Given the description of an element on the screen output the (x, y) to click on. 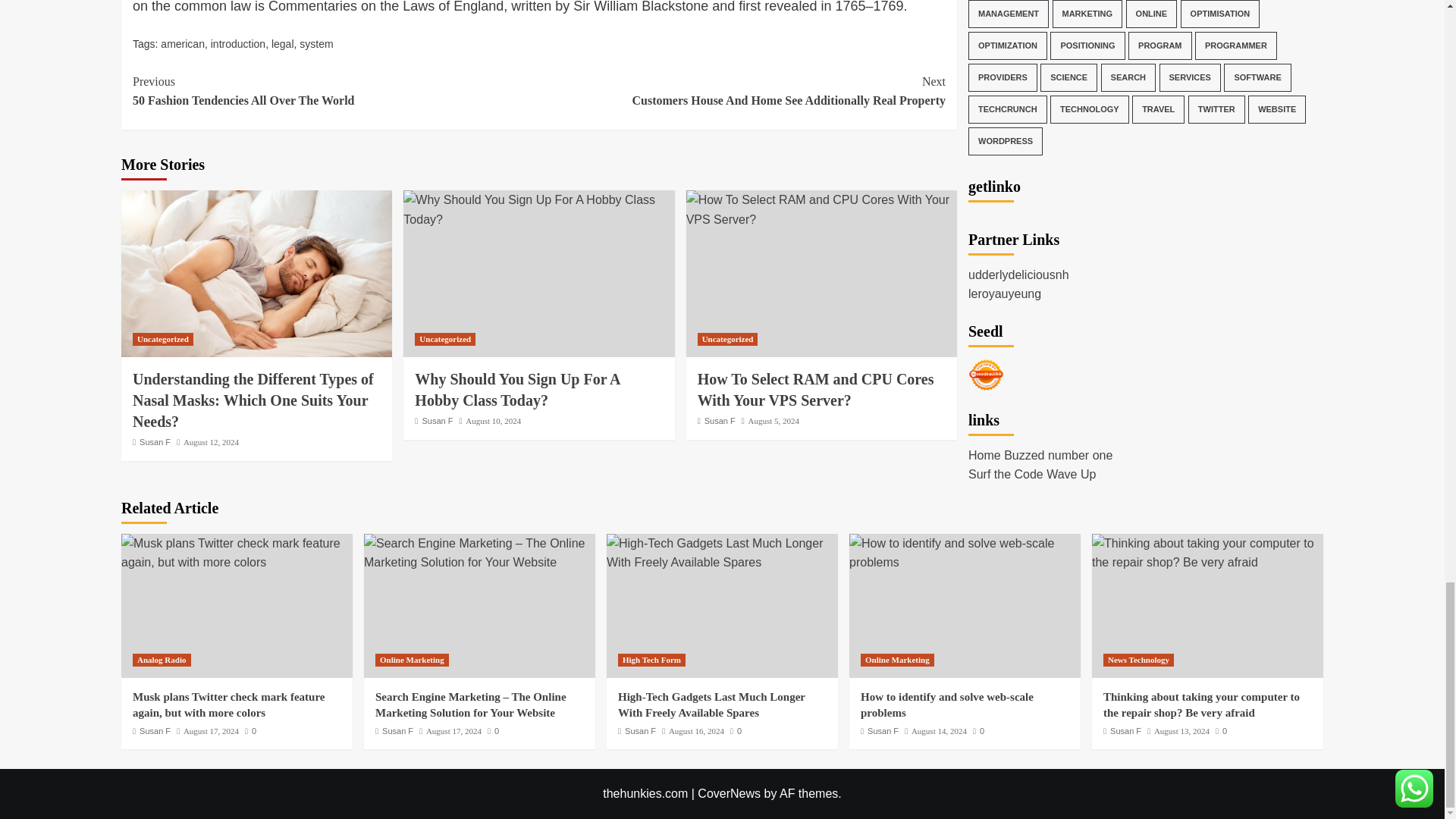
system (335, 91)
legal (316, 43)
introduction (282, 43)
Why Should You Sign Up For A Hobby Class Today? (237, 43)
How To Select RAM and CPU Cores With Your VPS Server? (538, 209)
american (741, 91)
